Given the description of an element on the screen output the (x, y) to click on. 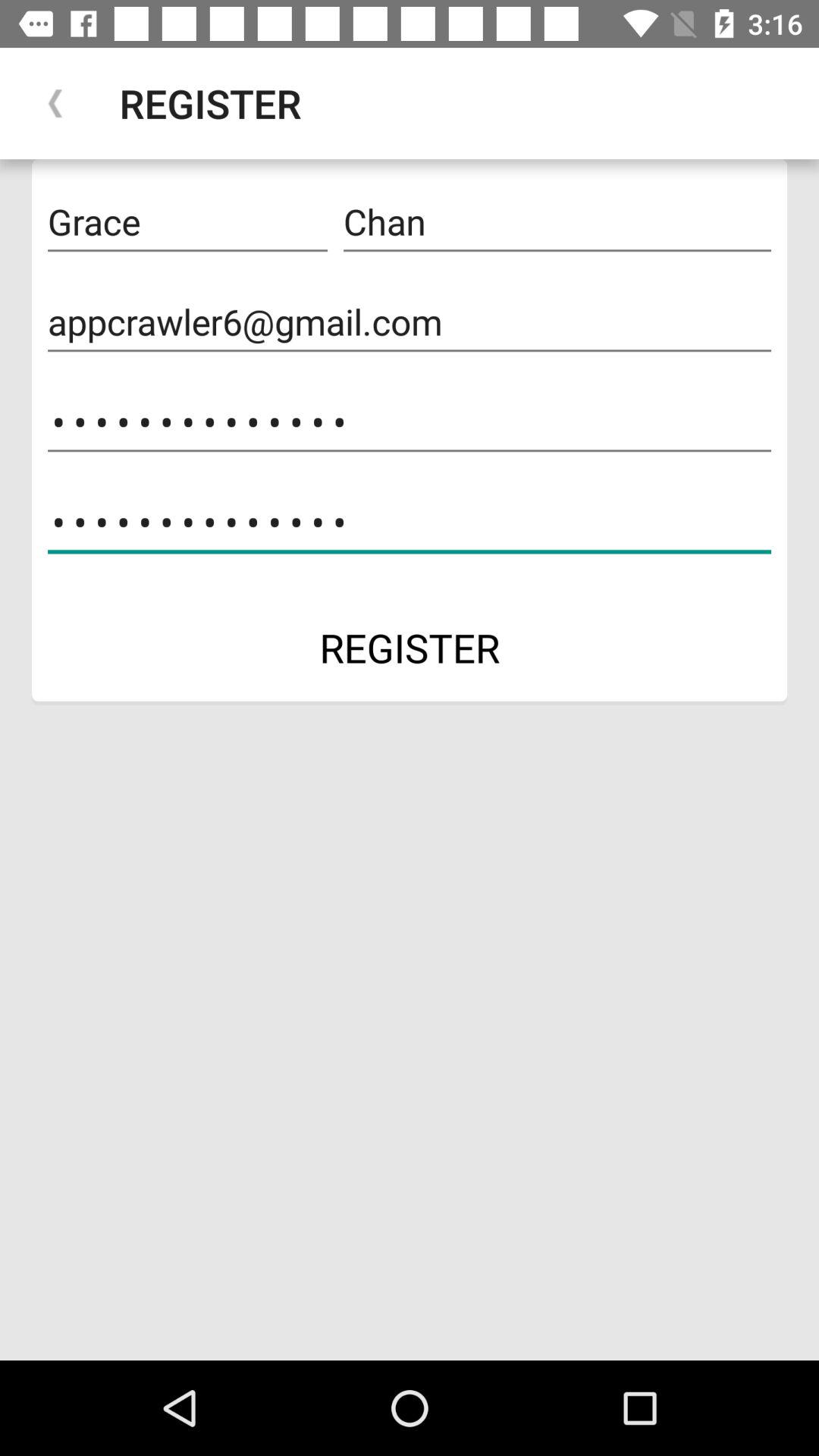
open icon below grace (409, 322)
